Given the description of an element on the screen output the (x, y) to click on. 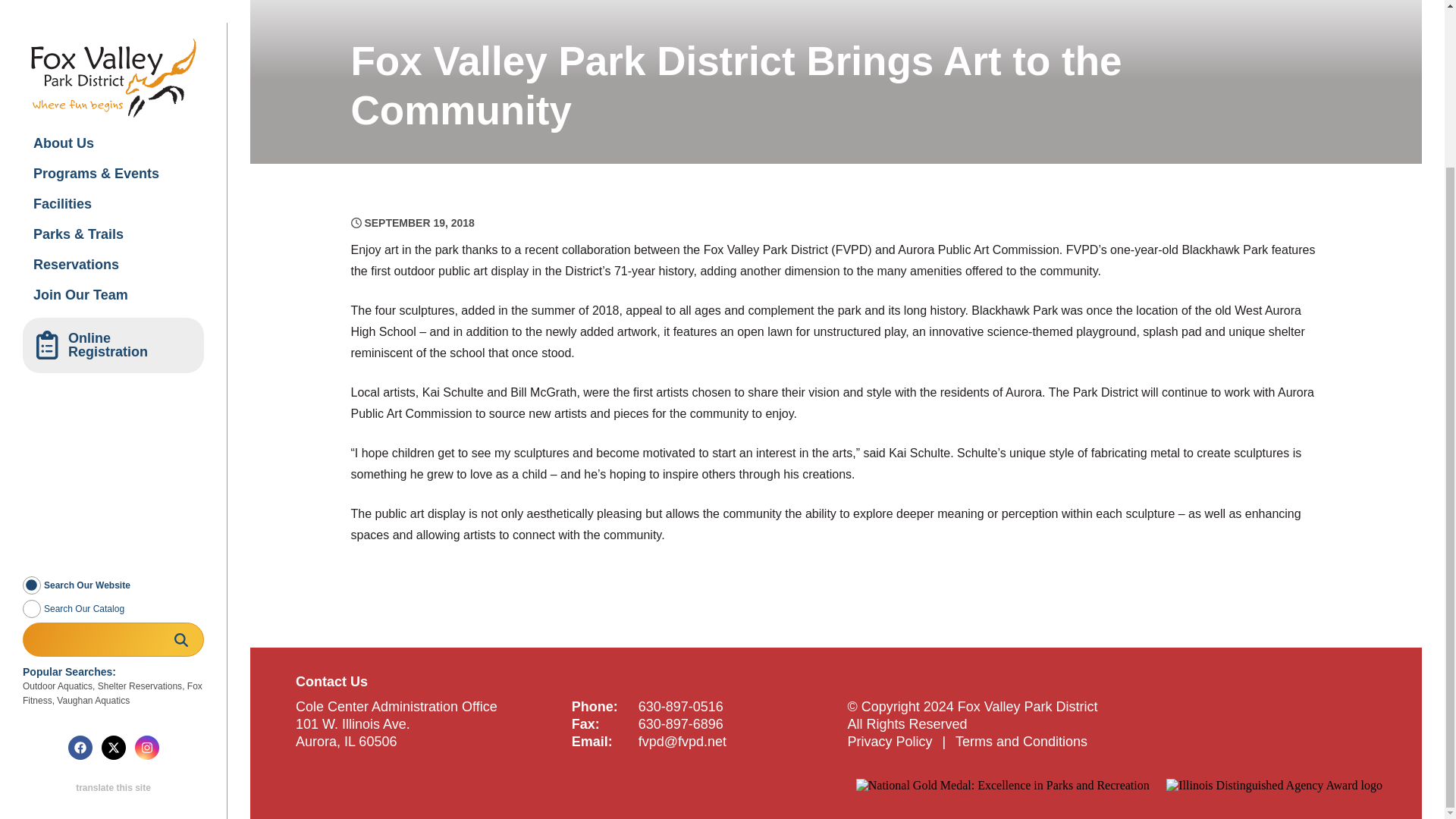
Search for: (113, 439)
website (31, 384)
catalog (31, 408)
catalog (31, 408)
website (31, 384)
